Given the description of an element on the screen output the (x, y) to click on. 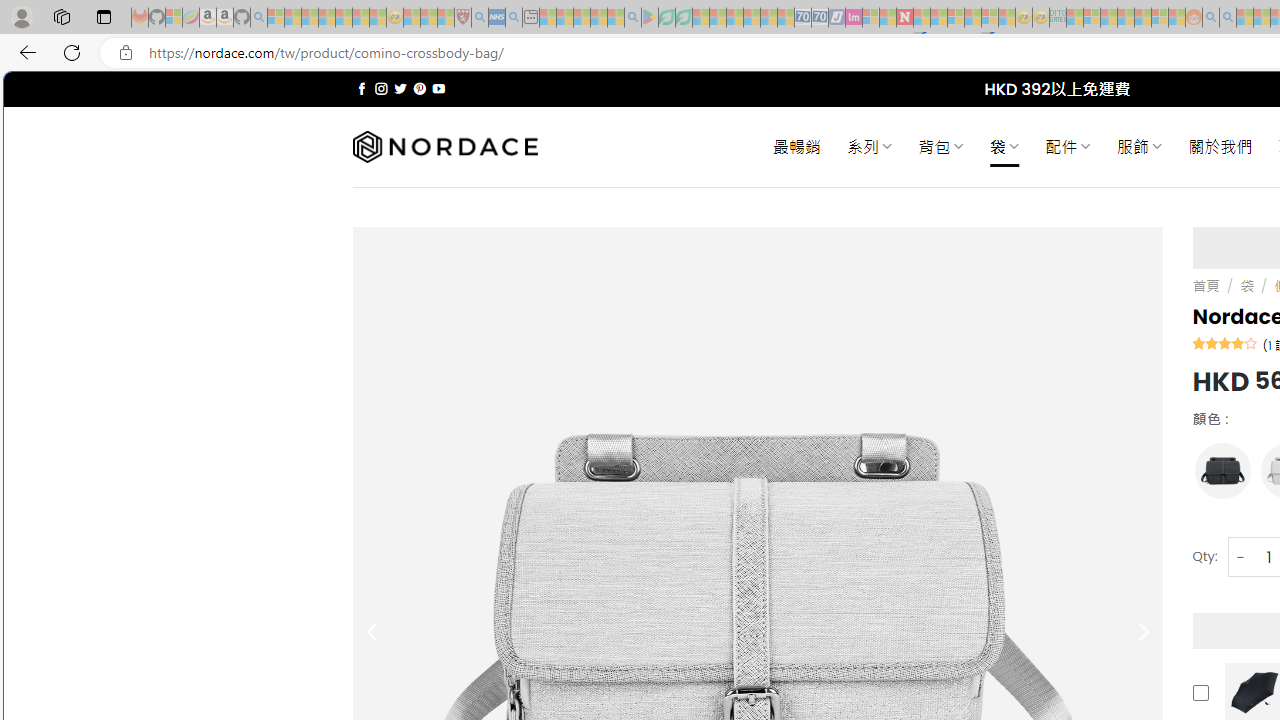
Add this product to cart (1200, 693)
